Given the description of an element on the screen output the (x, y) to click on. 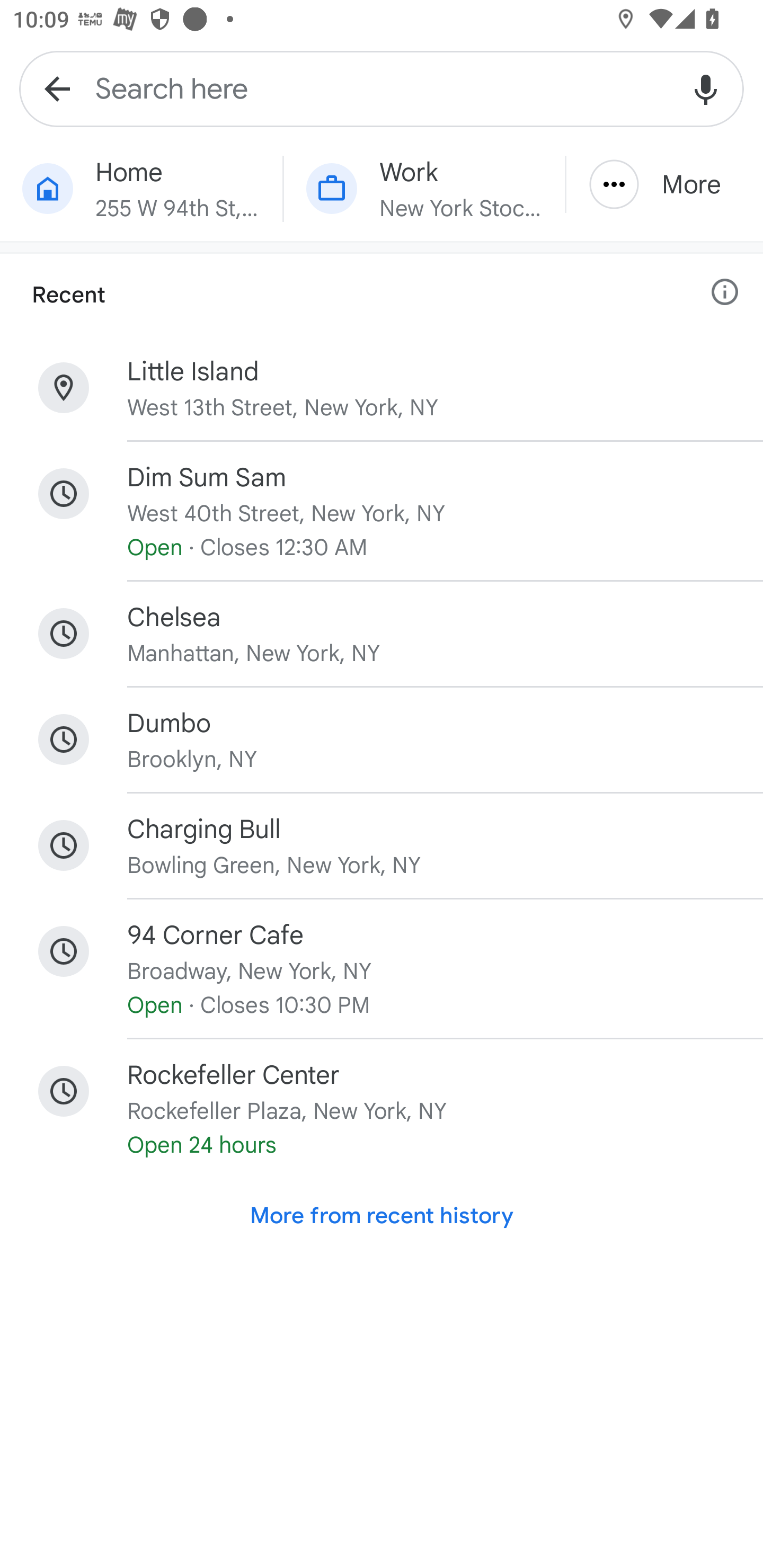
Navigate up (57, 88)
Search here (381, 88)
Voice search (705, 88)
More (664, 184)
Little Island West 13th Street, New York, NY (381, 387)
Chelsea Manhattan, New York, NY (381, 633)
Dumbo Brooklyn, NY (381, 739)
Charging Bull Bowling Green, New York, NY (381, 845)
More from recent history (381, 1215)
